Given the description of an element on the screen output the (x, y) to click on. 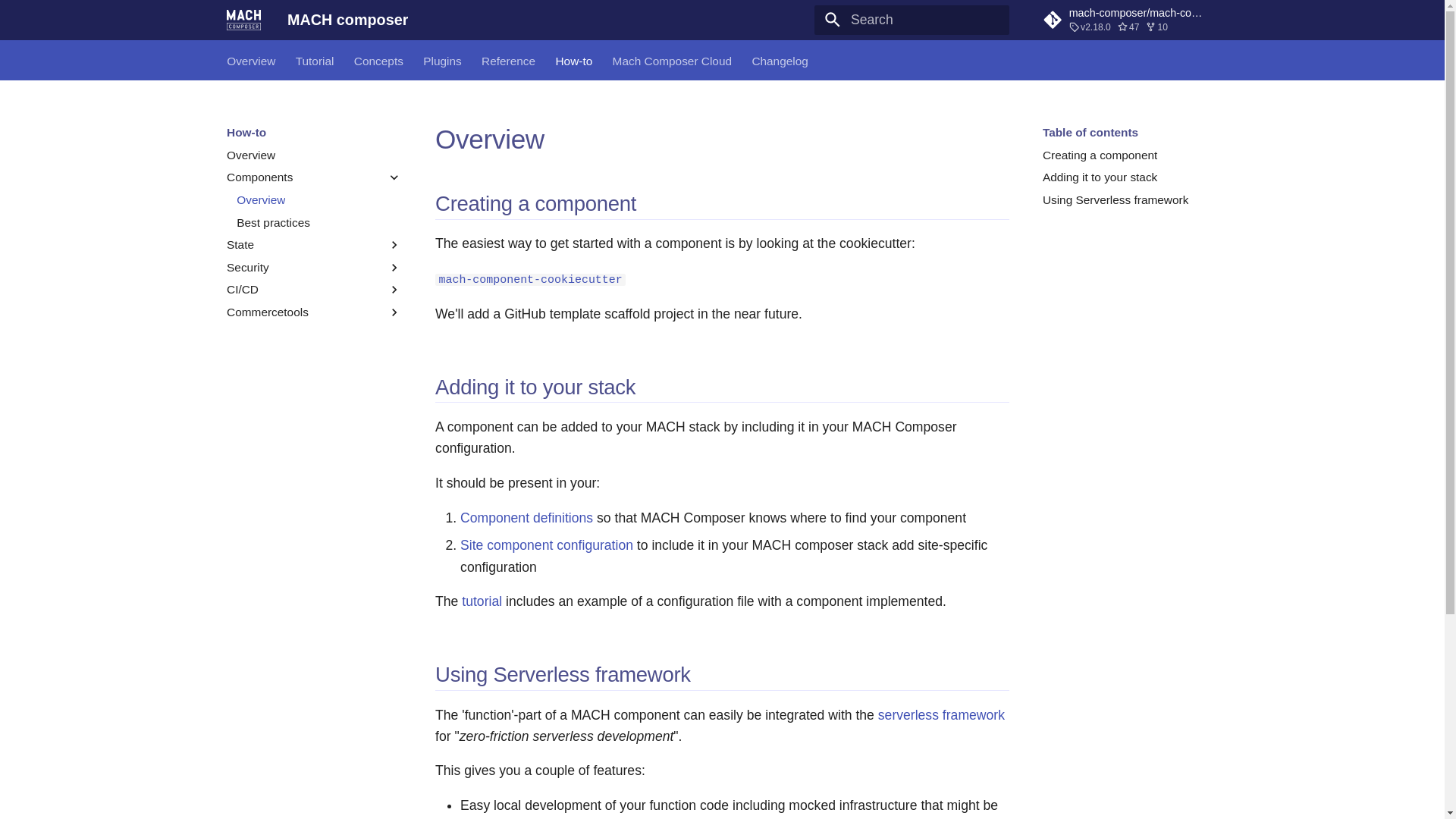
Go to repository (1129, 20)
Plugins (442, 60)
MACH composer (242, 19)
Concepts (378, 60)
Changelog (779, 60)
How-to (573, 60)
Overview (251, 60)
Reference (508, 60)
Mach Composer Cloud (672, 60)
Tutorial (314, 60)
